Given the description of an element on the screen output the (x, y) to click on. 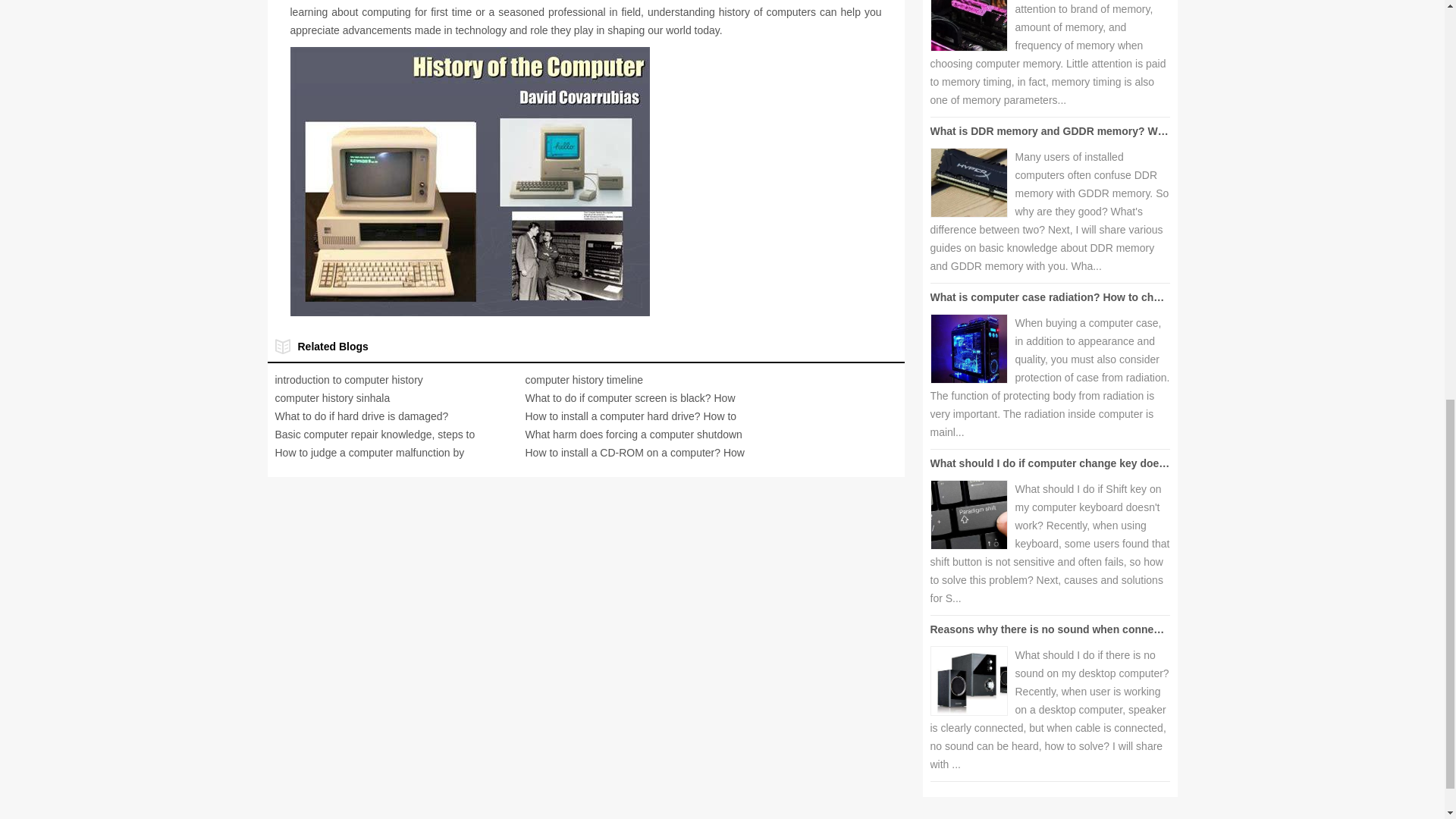
computer history sinhala (332, 398)
introduction to computer history (348, 379)
computer history timeline (583, 379)
computer history sinhala (332, 398)
computer history timeline (583, 379)
What is DDR memory and GDDR memory? What is difference? (1087, 131)
